Given the description of an element on the screen output the (x, y) to click on. 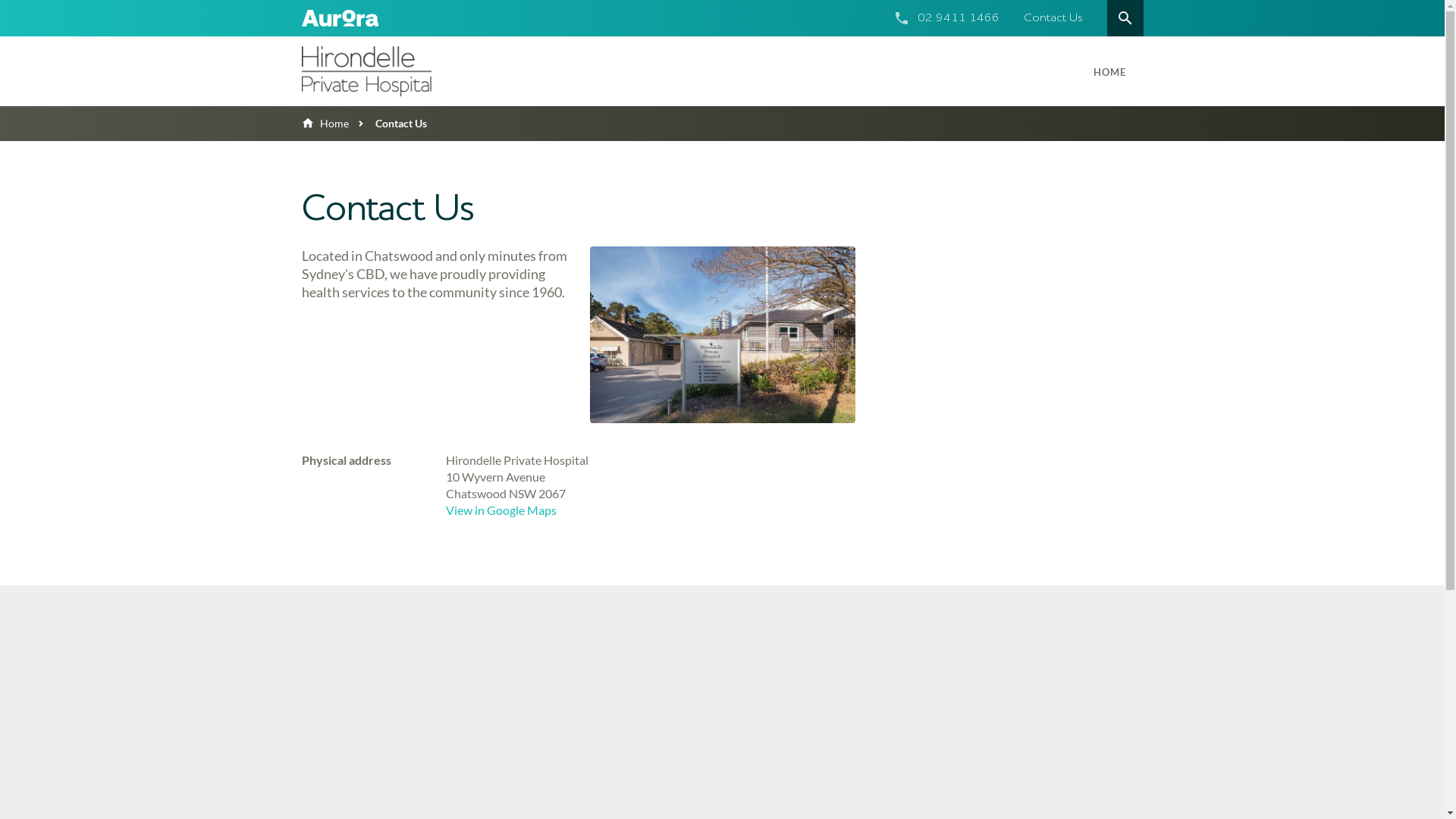
Contact Us Element type: text (1052, 18)
View in Google Maps Element type: text (500, 509)
02 9411 1466 Element type: text (958, 18)
Home Element type: text (324, 122)
HOME Element type: text (1109, 70)
Hirondelle Private Hospital Element type: text (399, 71)
